Given the description of an element on the screen output the (x, y) to click on. 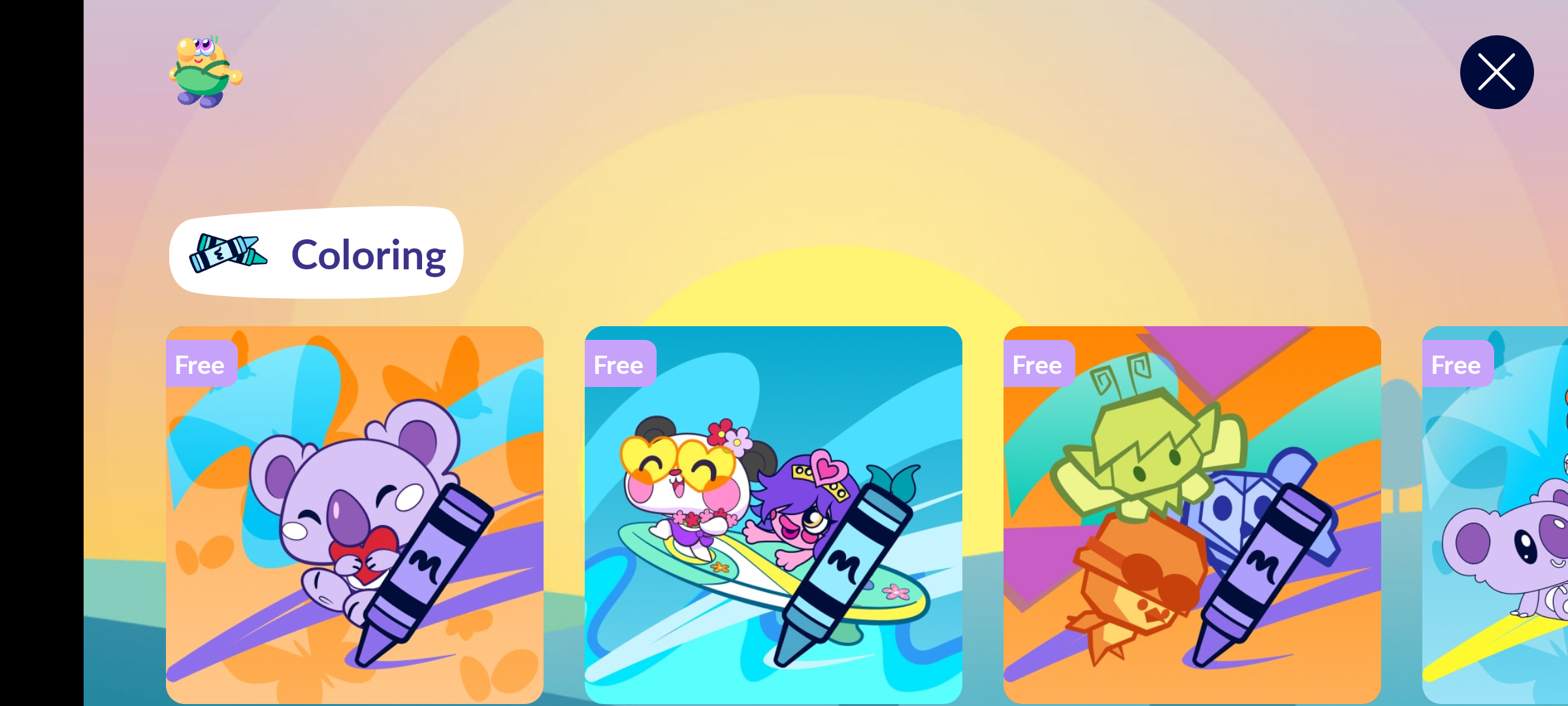
Profile icon (205, 71)
Featured Content Free (355, 514)
Featured Content Free (773, 514)
Featured Content Free (1192, 514)
